Given the description of an element on the screen output the (x, y) to click on. 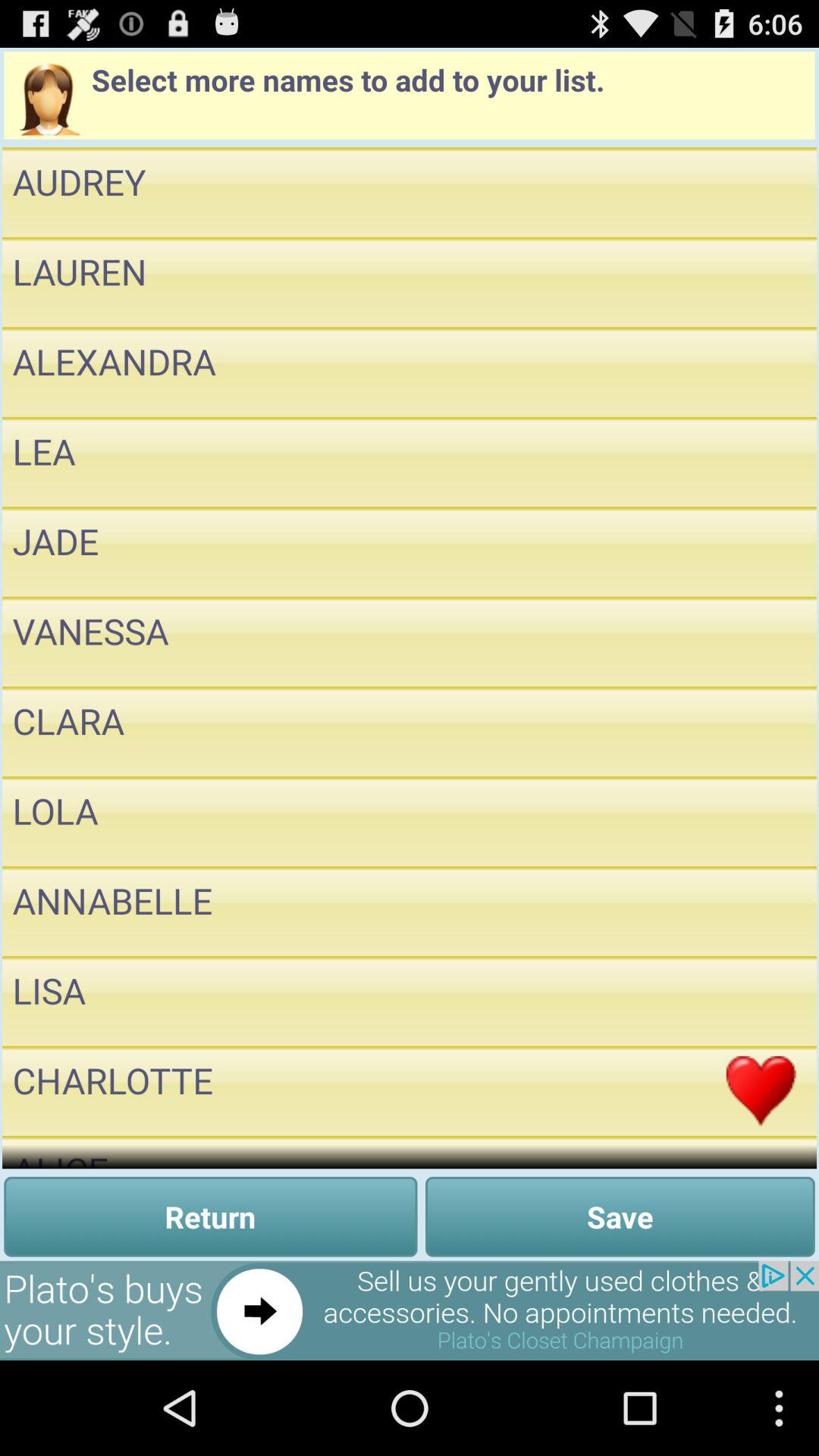
select to add the name to list (761, 462)
